Given the description of an element on the screen output the (x, y) to click on. 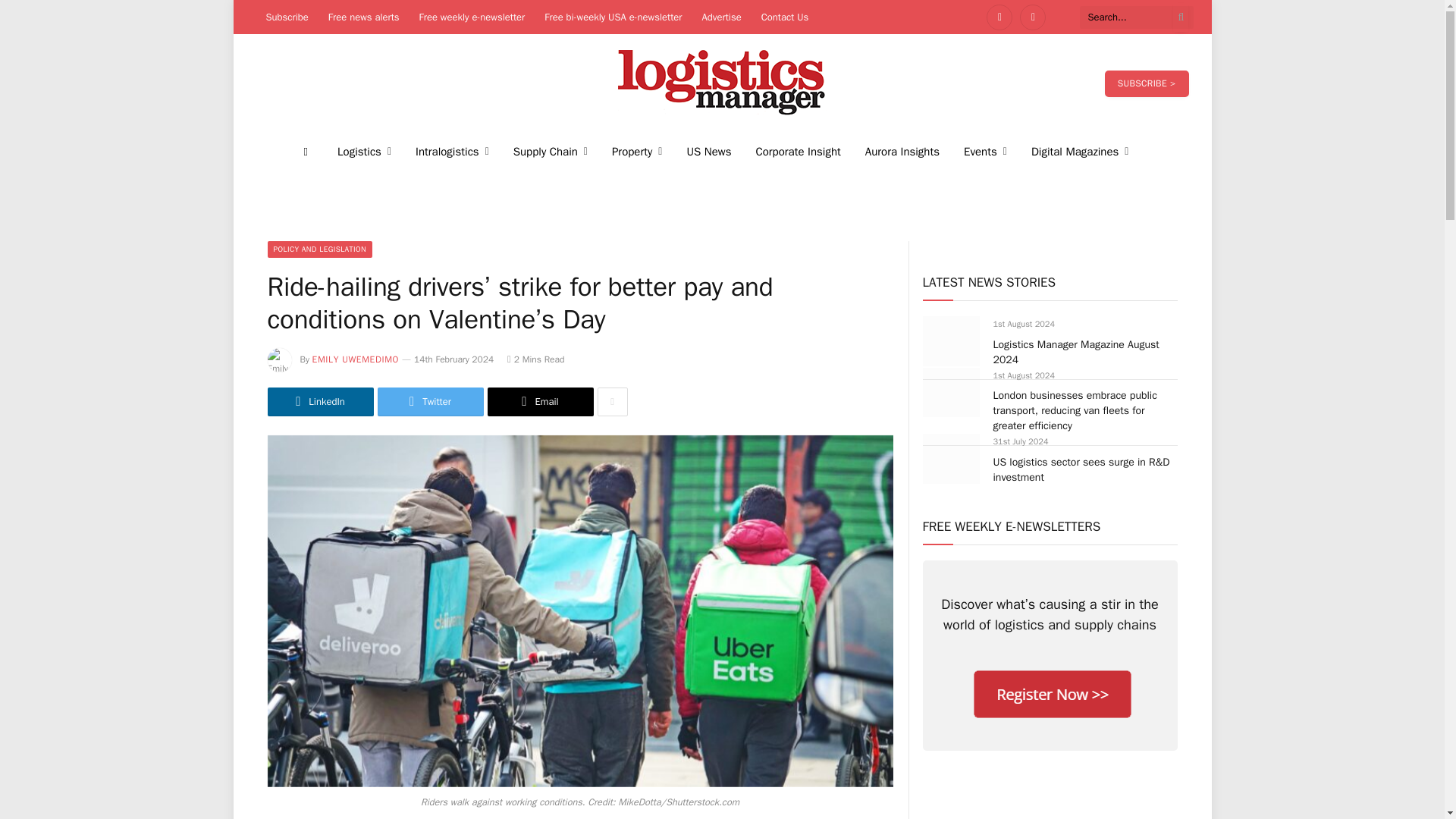
Share via Email (539, 401)
Posts by Emily Uwemedimo (355, 358)
Share on LinkedIn (319, 401)
Show More Social Sharing (611, 401)
Logistics Manager (722, 83)
